Given the description of an element on the screen output the (x, y) to click on. 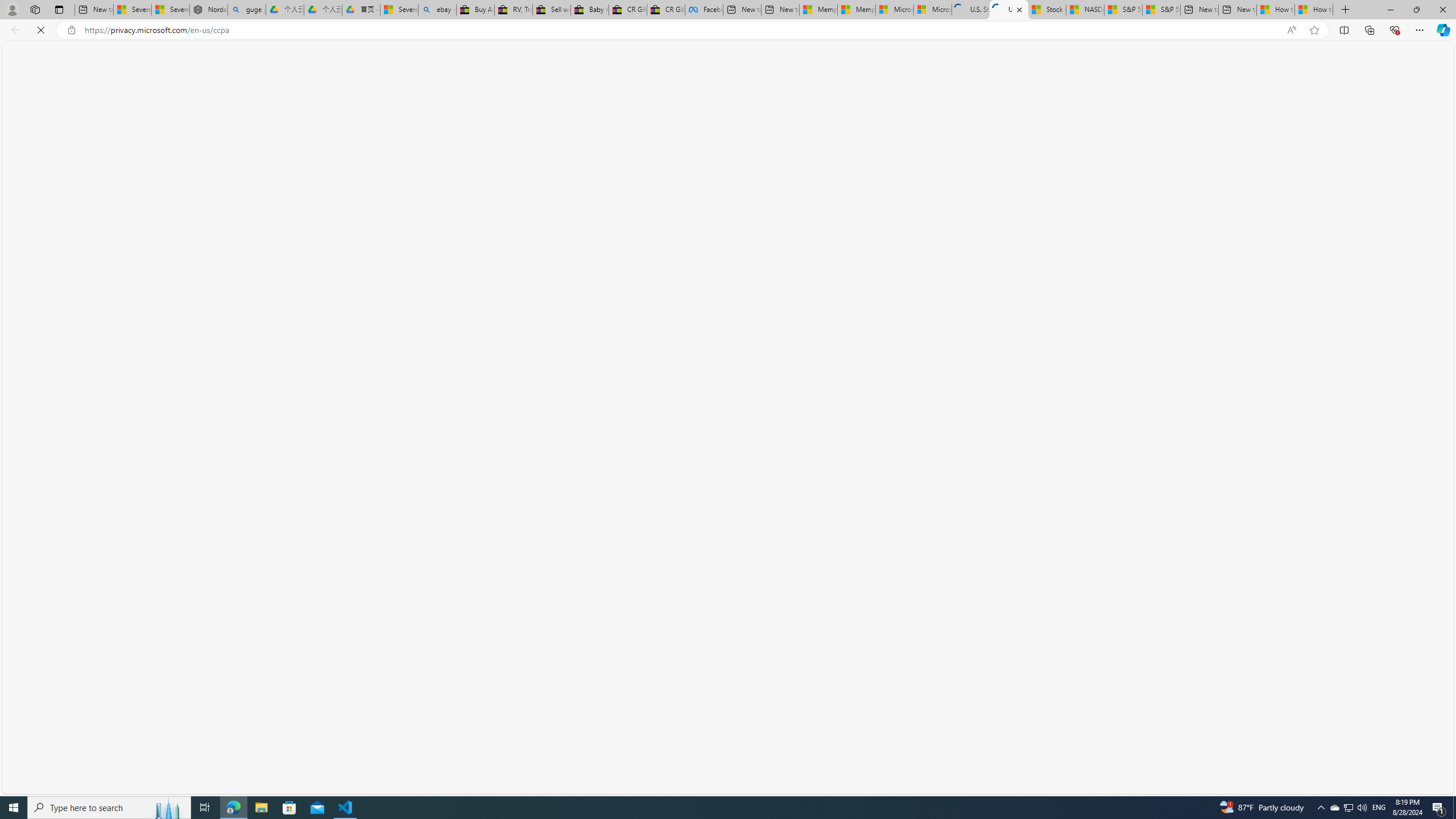
RV, Trailer & Camper Steps & Ladders for sale | eBay (513, 9)
How to Use a Monitor With Your Closed Laptop (1314, 9)
